Given the description of an element on the screen output the (x, y) to click on. 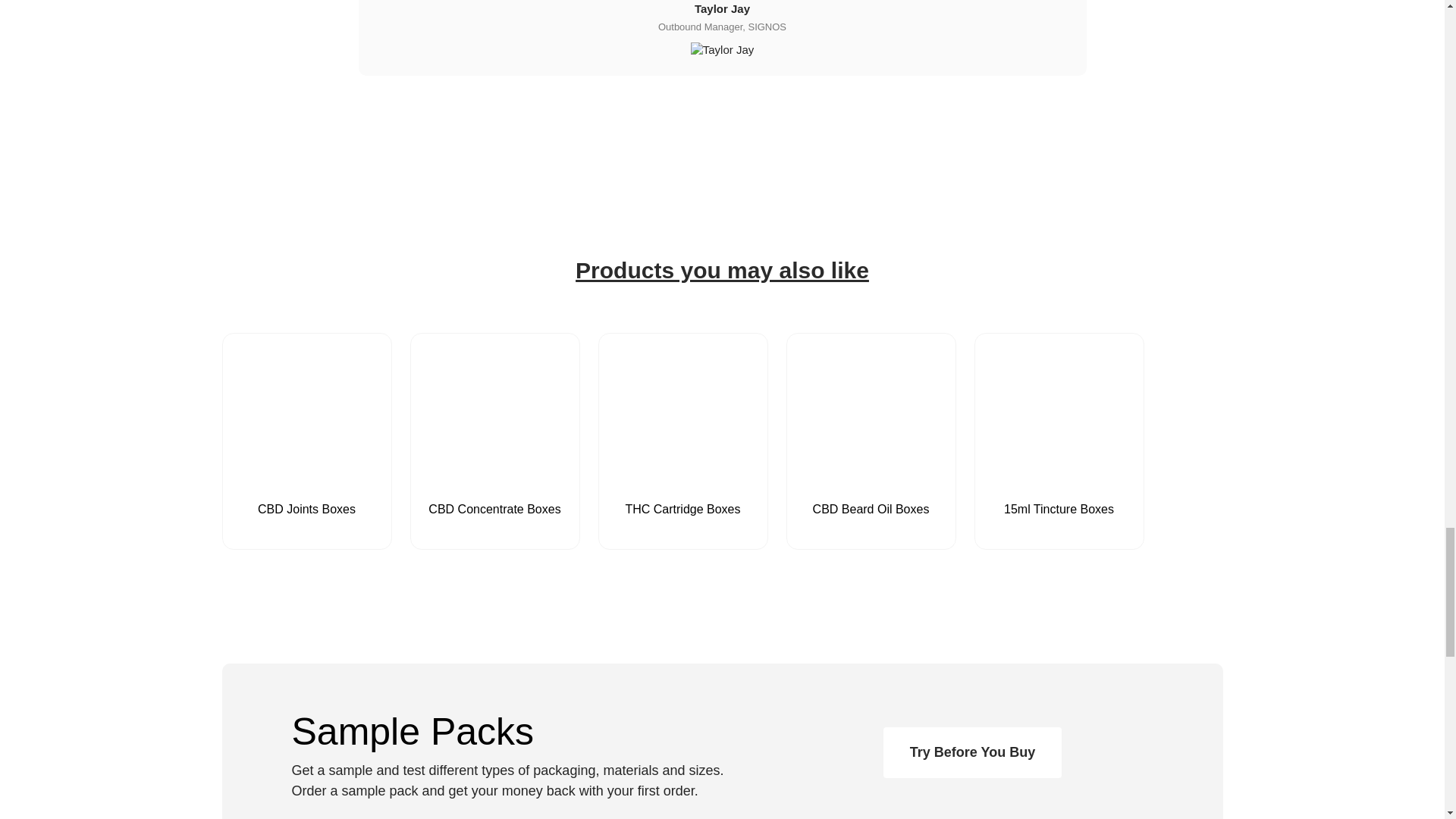
CBD Concentrate Boxes (495, 470)
CBD Joints Boxes (307, 470)
CBD Beard Oil Boxes (870, 470)
15ml Tincture Boxes (1058, 470)
contact button (972, 752)
THC Cartridge Boxes (683, 470)
